Given the description of an element on the screen output the (x, y) to click on. 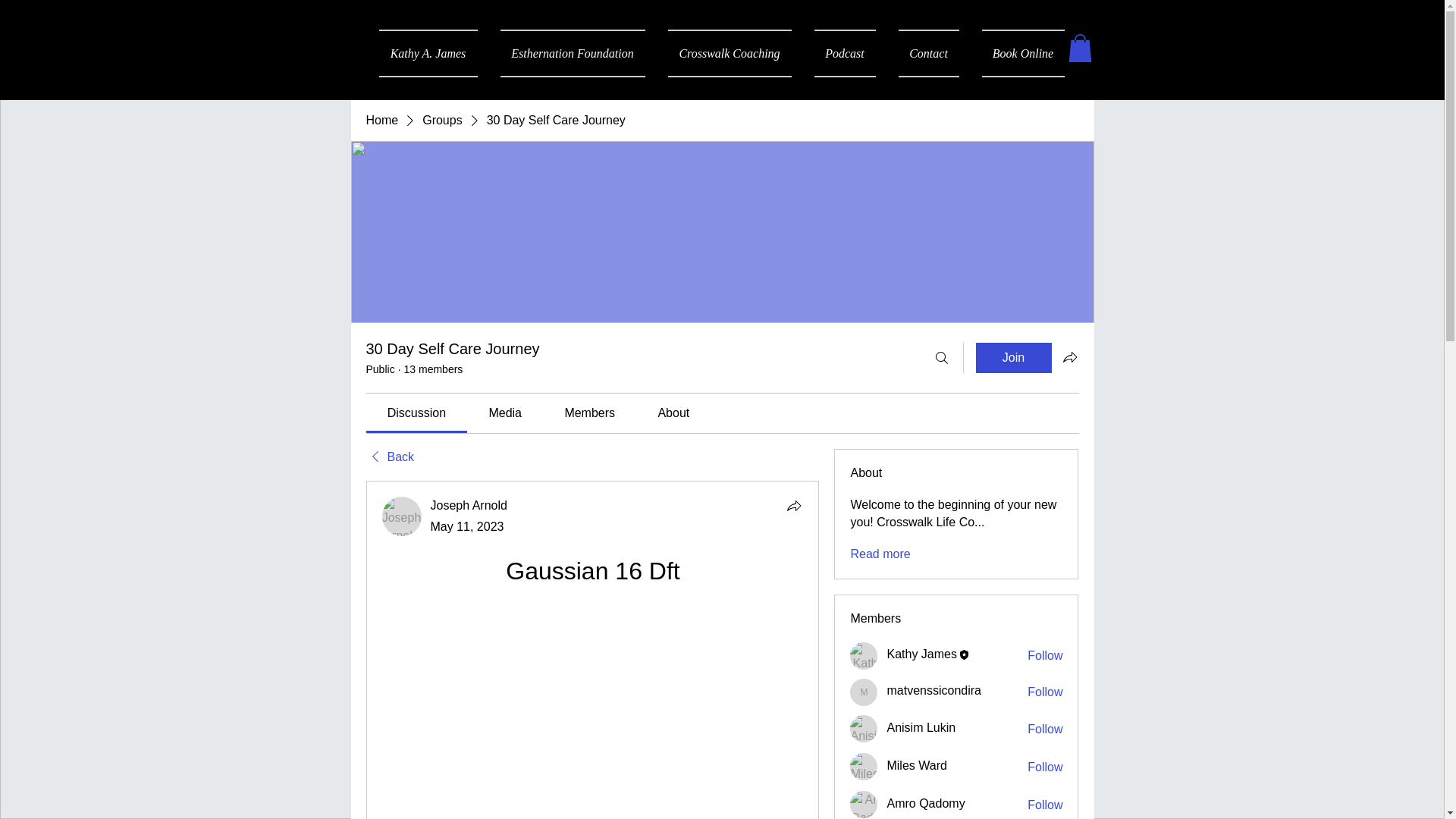
matvenssicondira (863, 691)
Join (1013, 358)
Home (381, 120)
Follow (1044, 692)
May 11, 2023 (466, 526)
Follow (1044, 729)
Joseph Arnold (401, 516)
Kathy James (921, 654)
Back (389, 457)
Anisim Lukin (863, 728)
